Given the description of an element on the screen output the (x, y) to click on. 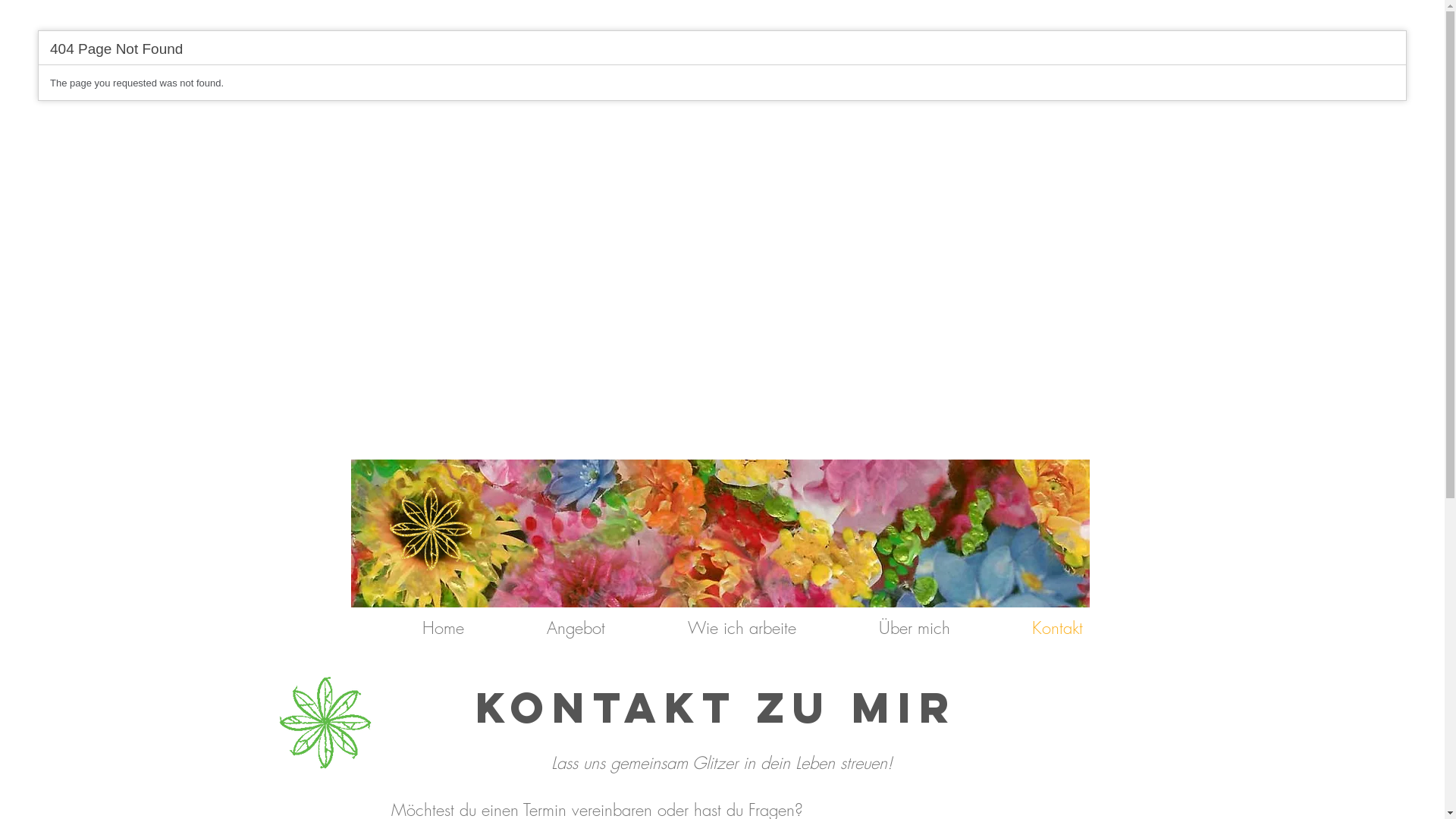
Home Element type: text (412, 628)
Wie ich arbeite Element type: text (710, 628)
Angebot Element type: text (544, 628)
Kontakt Element type: text (1027, 628)
